Given the description of an element on the screen output the (x, y) to click on. 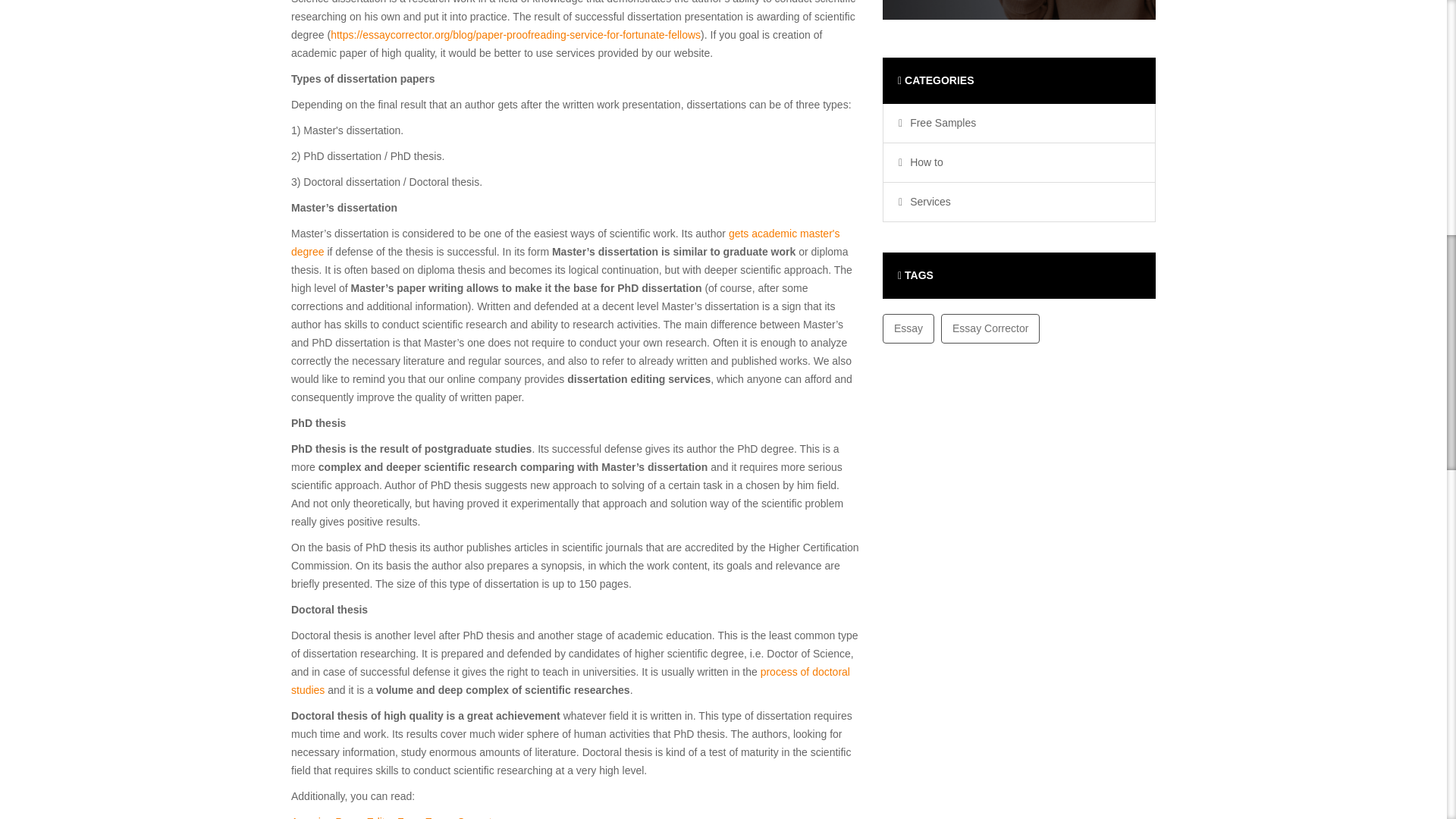
Essay Corrector (989, 328)
Essay (908, 328)
Amazing Paper Editor From Essay Corrector (395, 817)
Services (926, 201)
process of doctoral studies (570, 680)
How to (922, 162)
Free Samples (938, 122)
gets academic master's degree (565, 242)
